Given the description of an element on the screen output the (x, y) to click on. 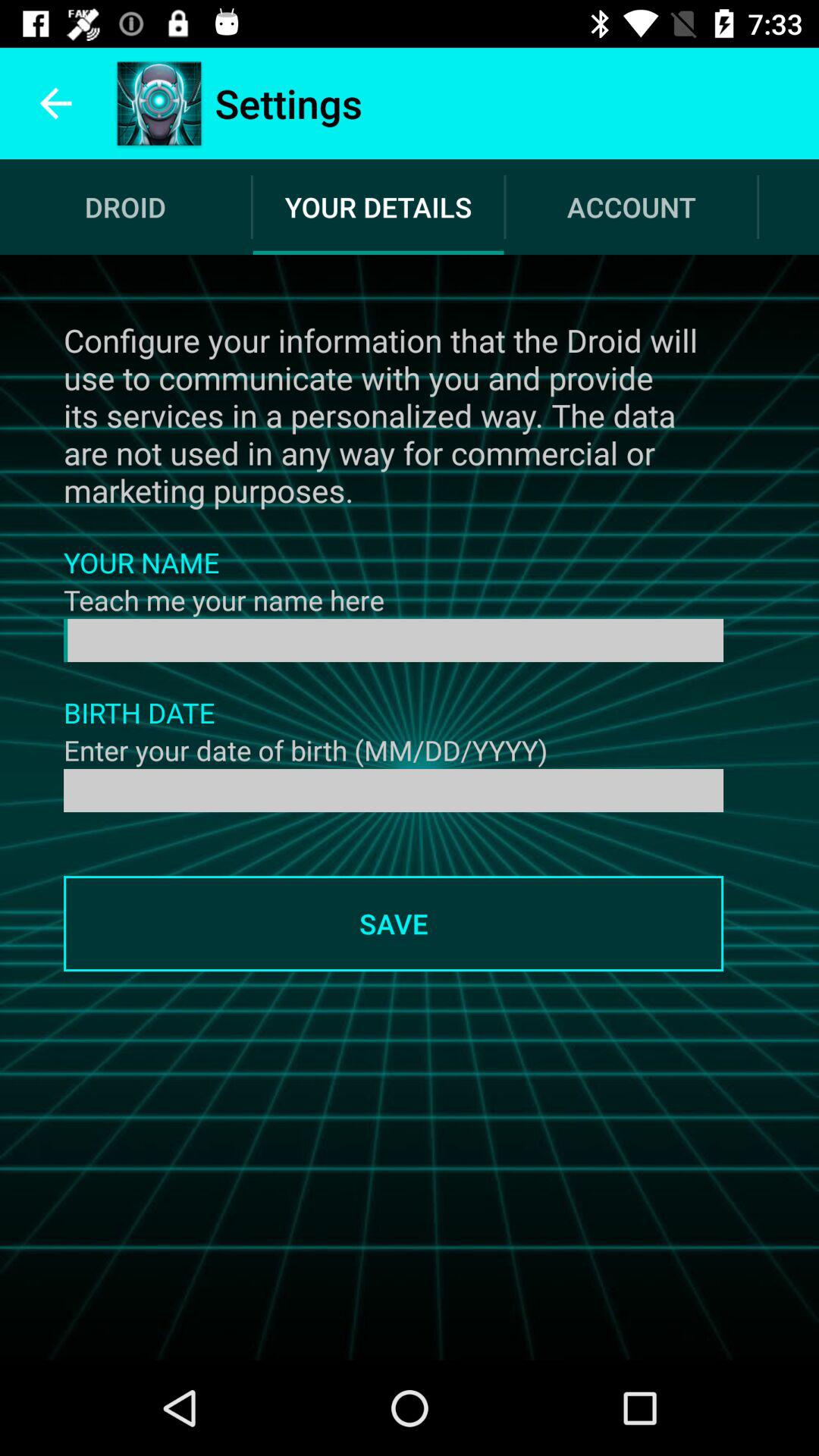
go to enter date of birth (393, 790)
